Given the description of an element on the screen output the (x, y) to click on. 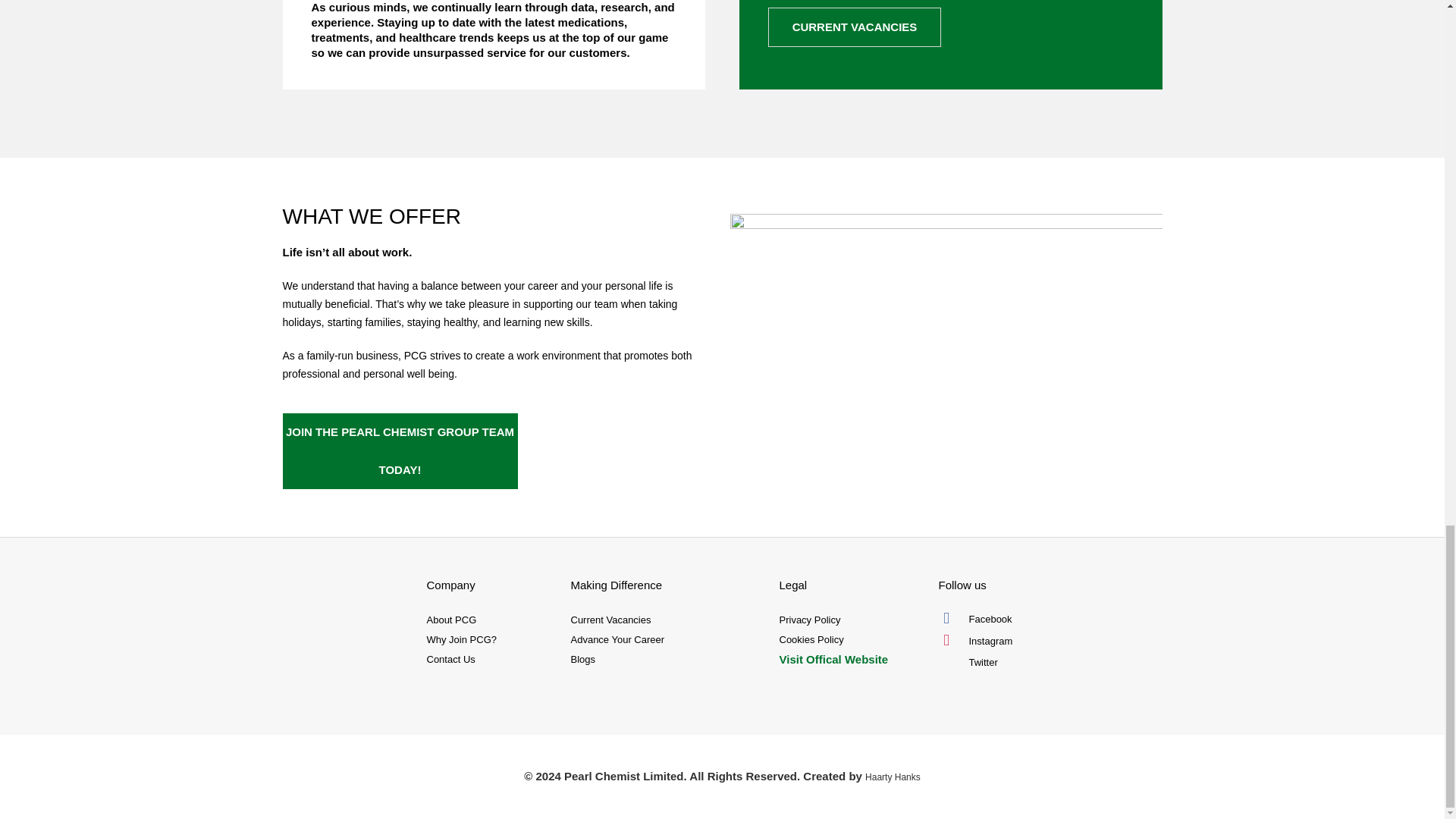
Current Vacancies (666, 619)
CURRENT VACANCIES (854, 26)
About PCG (490, 619)
Why Join PCG? (490, 639)
Contact Us (490, 659)
JOIN THE PEARL CHEMIST GROUP TEAM TODAY! (399, 450)
